Given the description of an element on the screen output the (x, y) to click on. 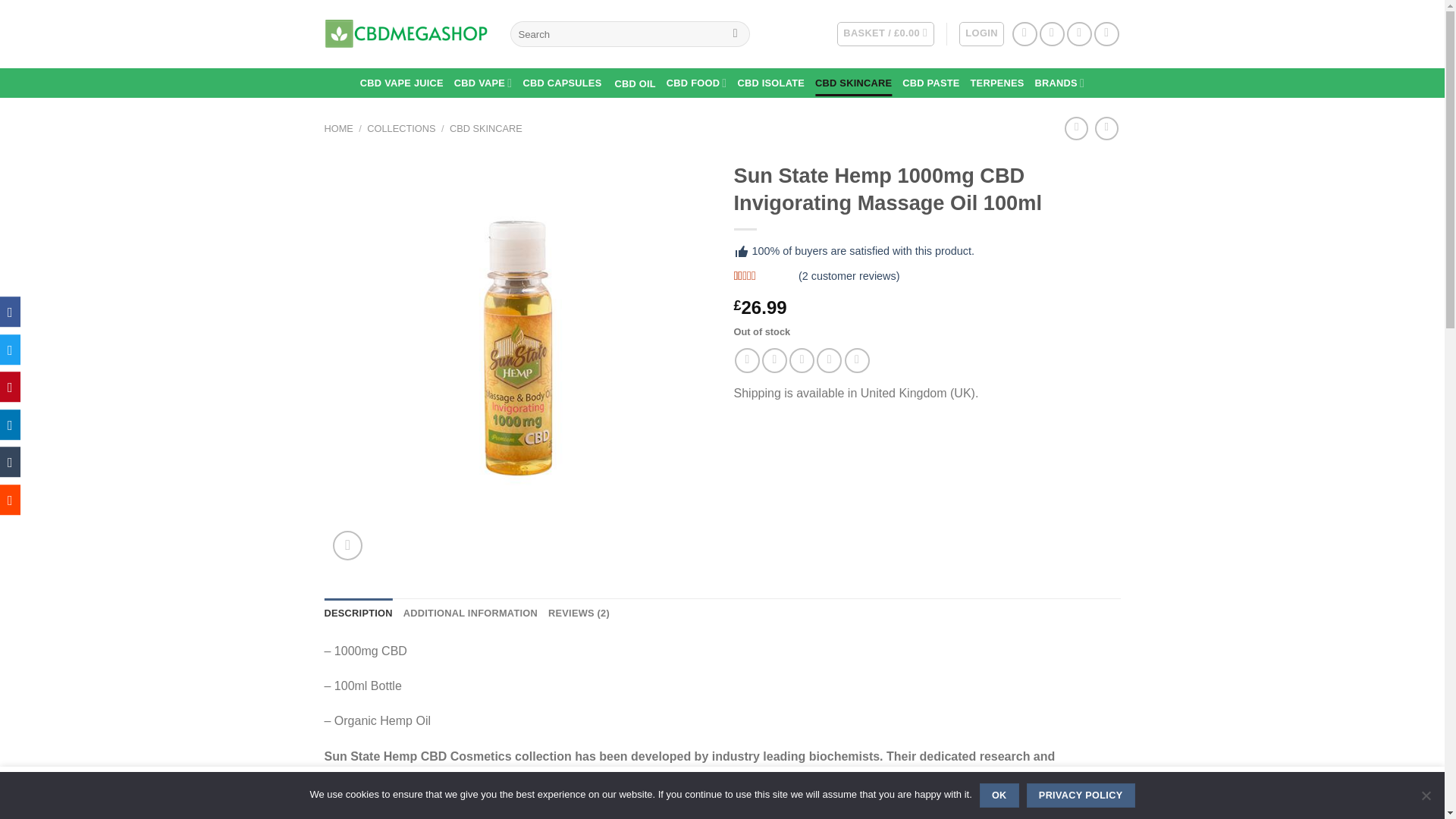
HOME (338, 128)
CBD VAPE JUICE (401, 83)
Zoom (347, 545)
CBD SKINCARE (853, 83)
Share on Twitter (774, 360)
LOGIN (981, 33)
Share on Facebook (747, 360)
CBD ISOLATE (770, 83)
BRANDS (1059, 82)
Search (735, 33)
CBD Mega Shop (405, 33)
TERPENES (998, 83)
Send us an email (1106, 34)
